Given the description of an element on the screen output the (x, y) to click on. 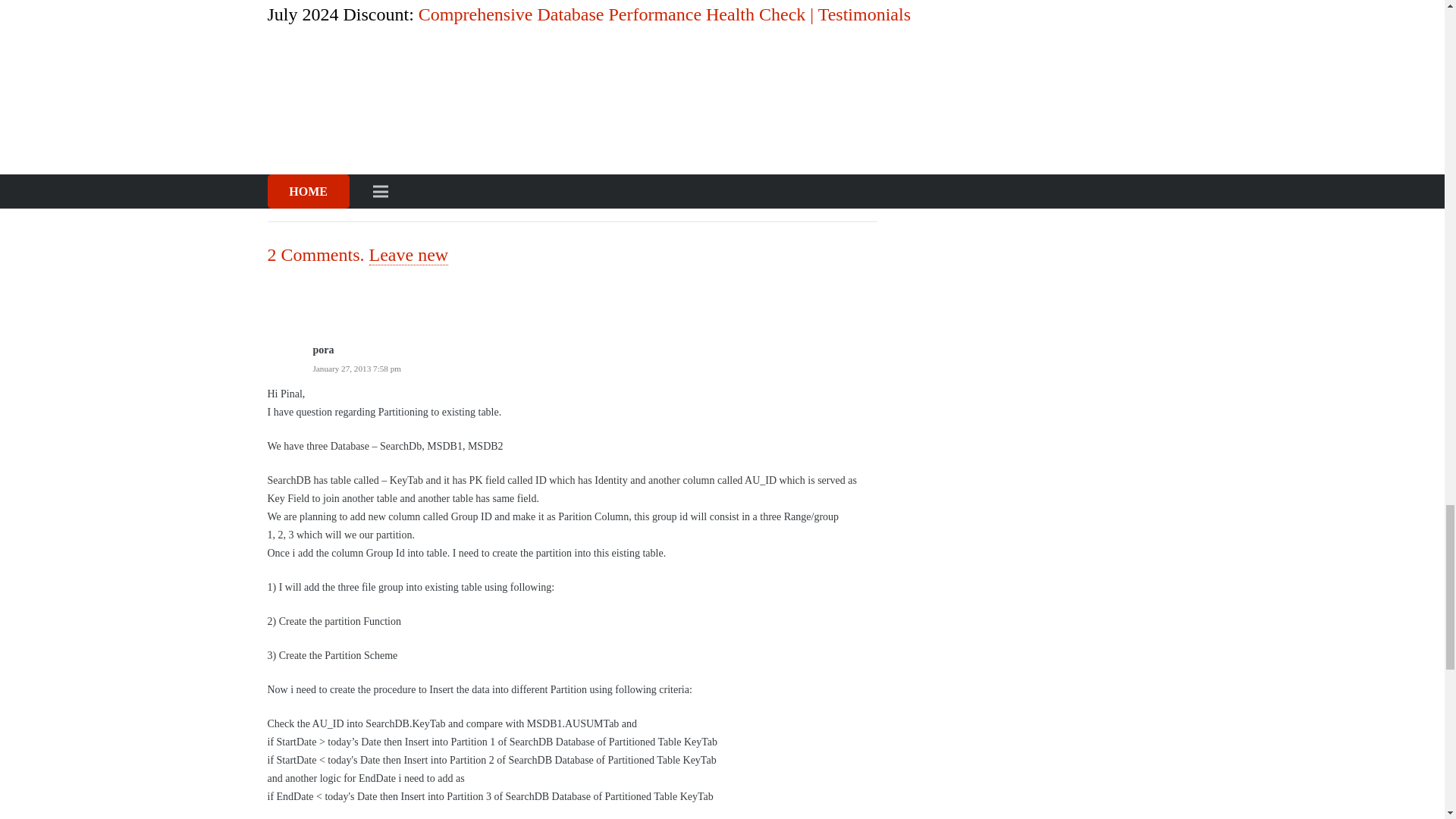
January 27, 2013 7:58 pm (357, 368)
